Given the description of an element on the screen output the (x, y) to click on. 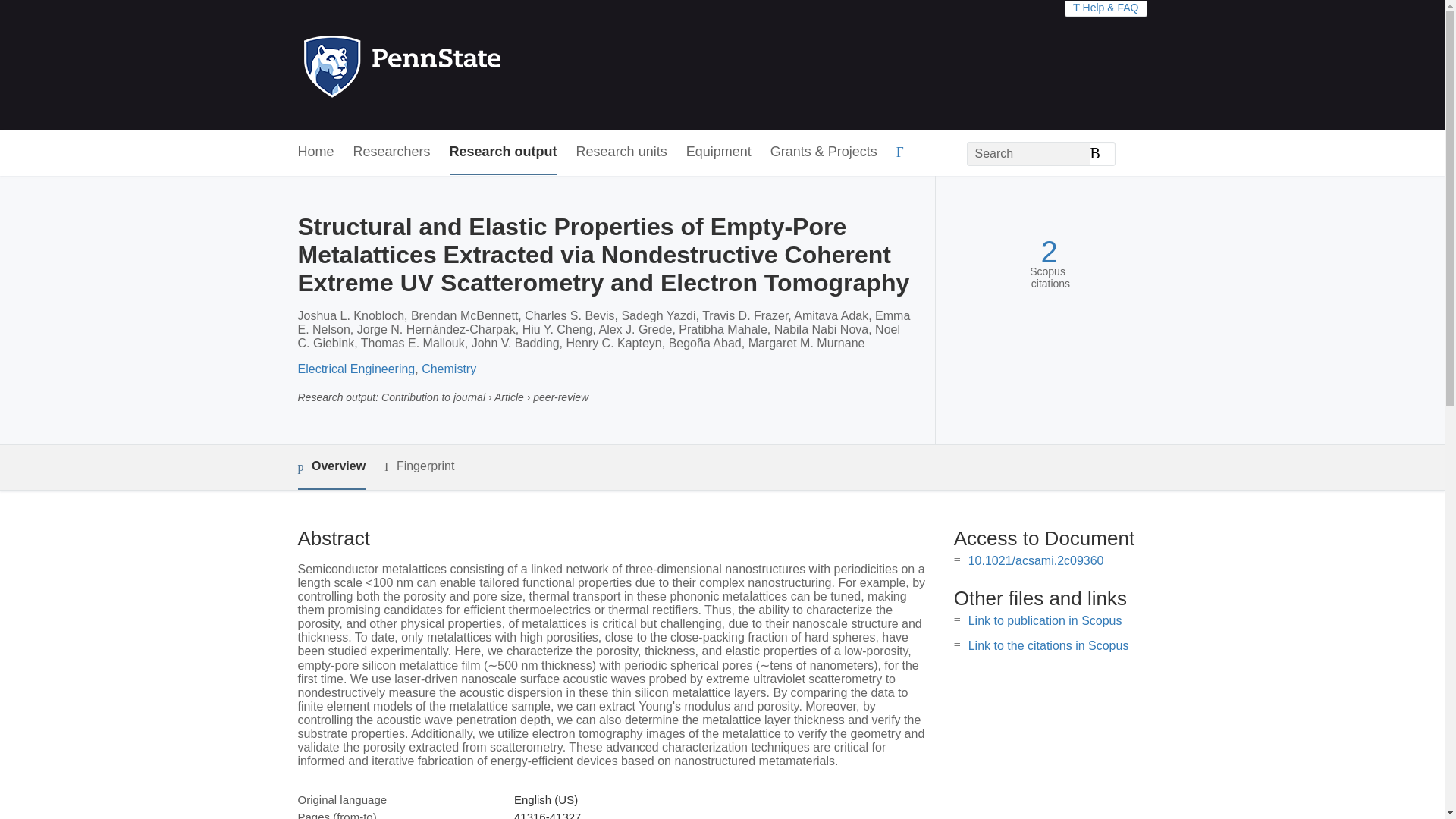
Research output (503, 152)
Overview (331, 467)
Electrical Engineering (355, 368)
Chemistry (449, 368)
Research units (621, 152)
Penn State Home (467, 65)
Fingerprint (419, 466)
Equipment (718, 152)
Researchers (391, 152)
Link to the citations in Scopus (1048, 645)
Link to publication in Scopus (1045, 620)
